Given the description of an element on the screen output the (x, y) to click on. 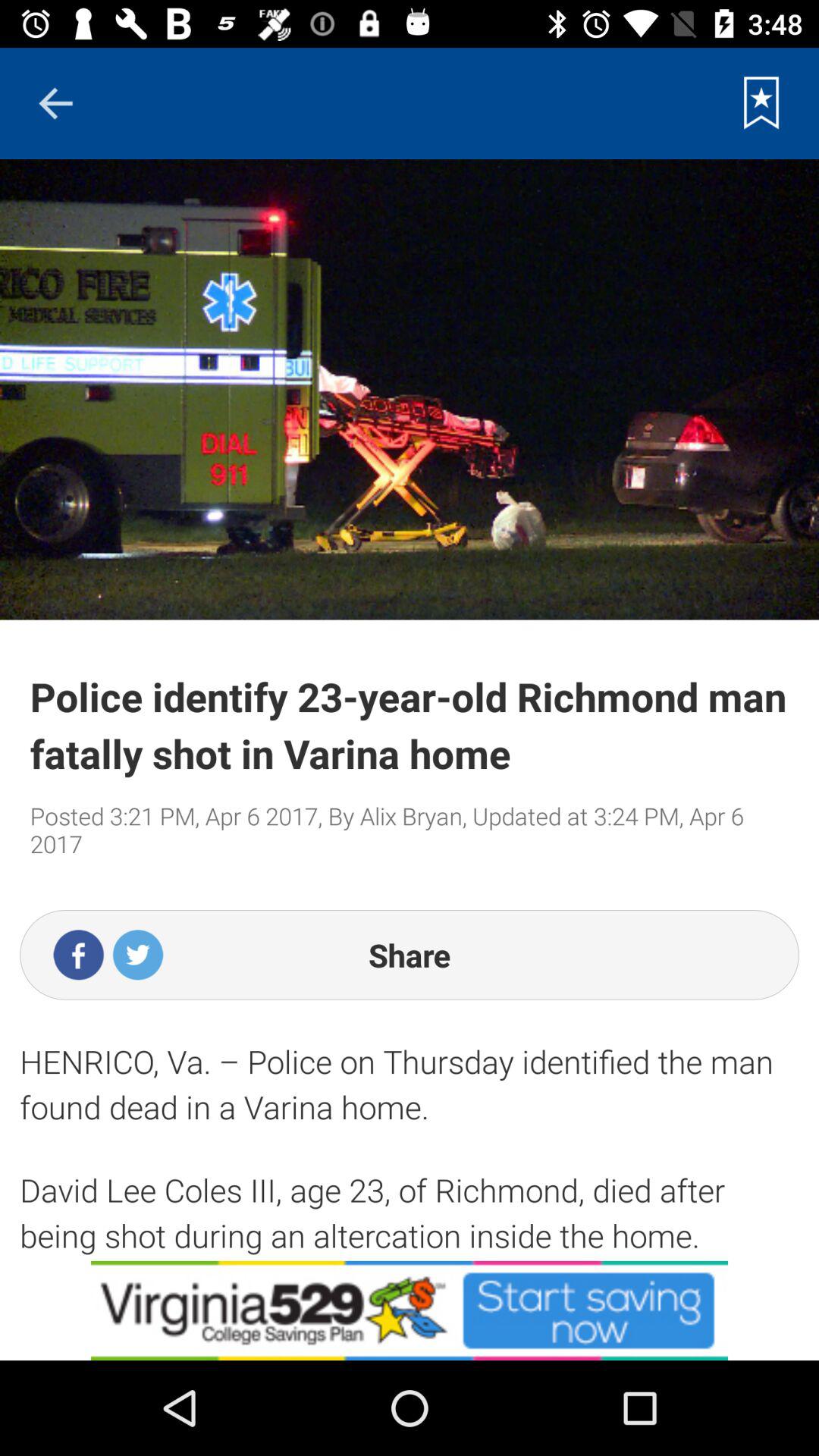
go back (55, 103)
